Given the description of an element on the screen output the (x, y) to click on. 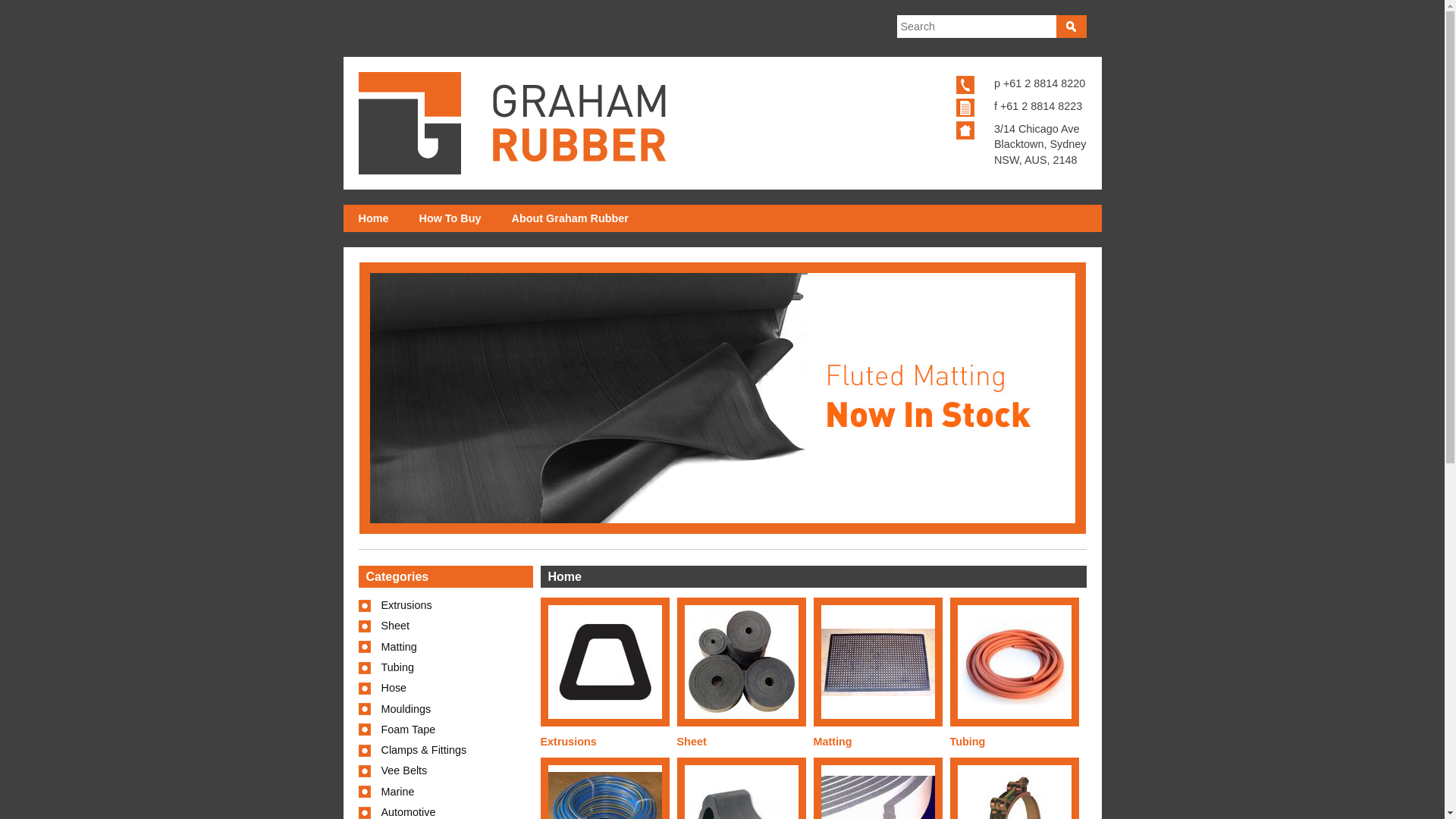
Extrusions Element type: text (444, 605)
Graham Rubber Element type: hover (511, 123)
Mouldings Element type: text (444, 709)
Marine Element type: text (444, 791)
Home Element type: text (372, 218)
Tubing Element type: text (444, 667)
Sheet Element type: text (444, 625)
Extrusions Element type: text (567, 741)
How To Buy Element type: text (449, 218)
Foam Tape Element type: text (444, 729)
Matting Element type: hover (877, 662)
Tubing Element type: hover (1013, 662)
About Graham Rubber Element type: text (569, 218)
Hose Element type: text (444, 687)
Sheet Element type: text (691, 741)
Tubing Element type: text (967, 741)
Matting Element type: text (831, 741)
Extrusions Element type: hover (604, 661)
Matting Element type: text (444, 647)
Clamps & Fittings Element type: text (444, 750)
Sheet Element type: hover (740, 661)
Vee Belts Element type: text (444, 770)
